Given the description of an element on the screen output the (x, y) to click on. 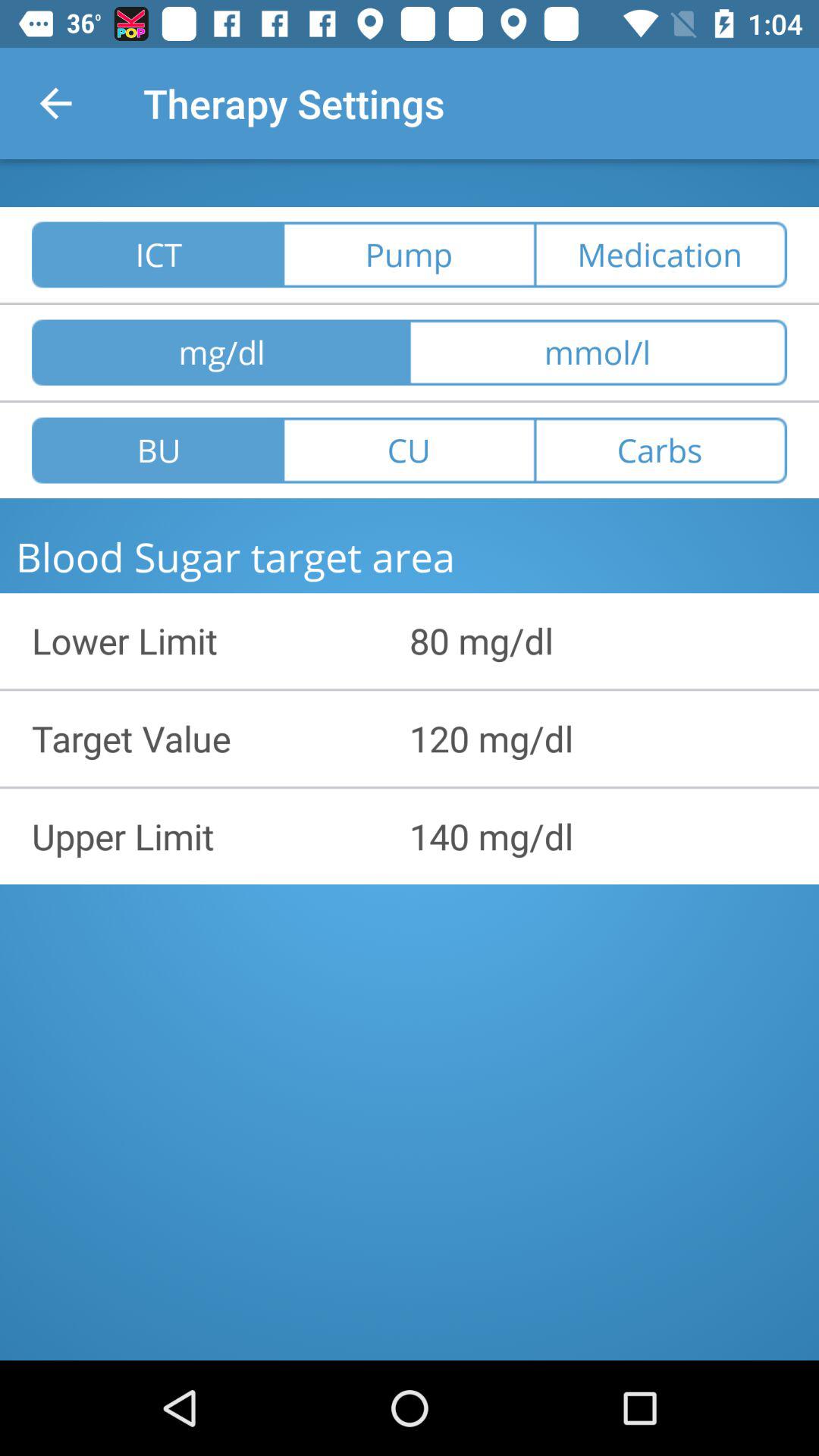
open ict (157, 254)
